Given the description of an element on the screen output the (x, y) to click on. 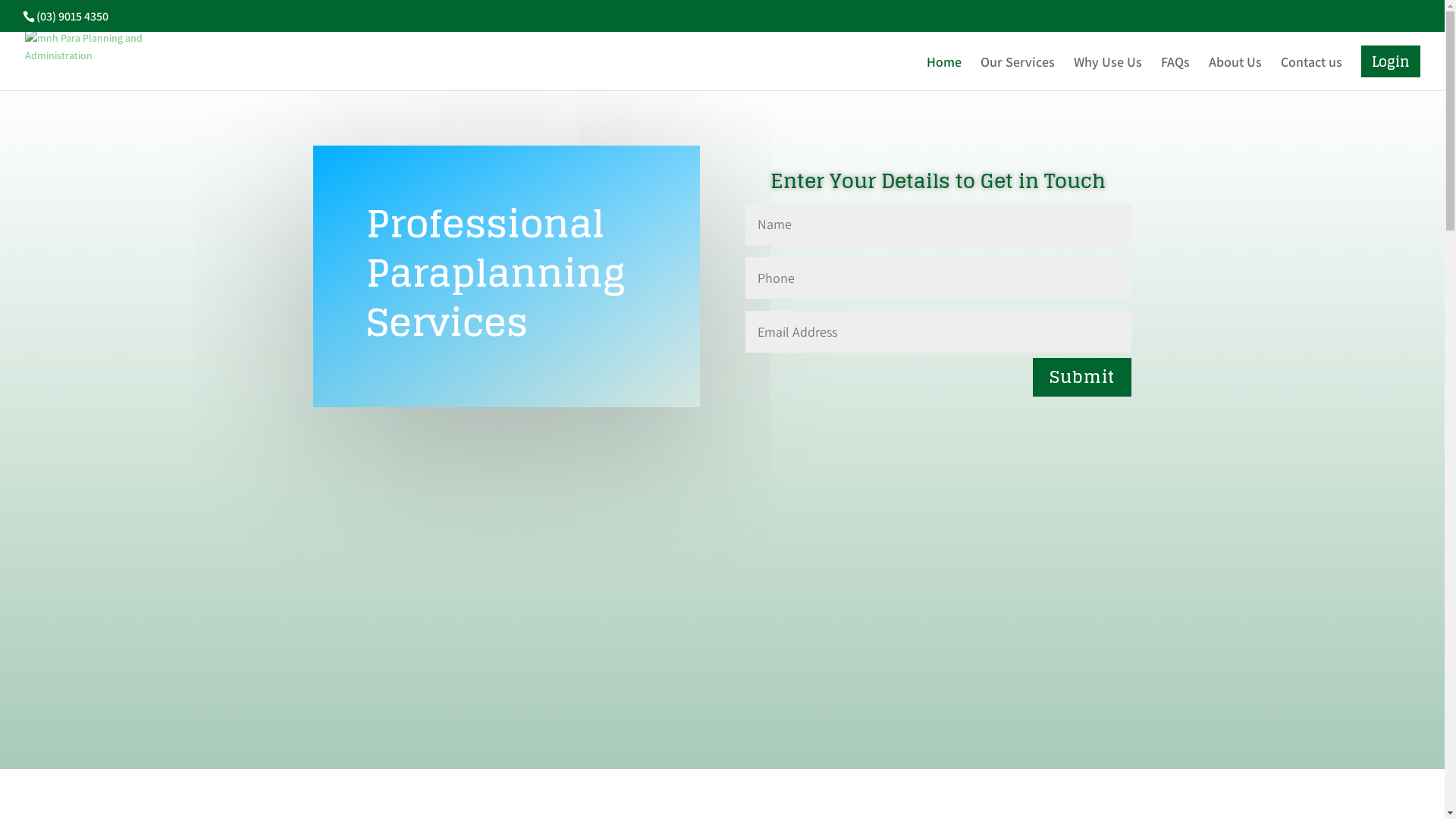
Login Element type: text (1390, 61)
Our Services Element type: text (1017, 73)
Home Element type: text (943, 73)
About Us Element type: text (1234, 73)
Why Use Us Element type: text (1107, 73)
Contact us Element type: text (1311, 73)
Submit Element type: text (1081, 376)
FAQs Element type: text (1175, 73)
(03) 9015 4350 Element type: text (72, 16)
